Given the description of an element on the screen output the (x, y) to click on. 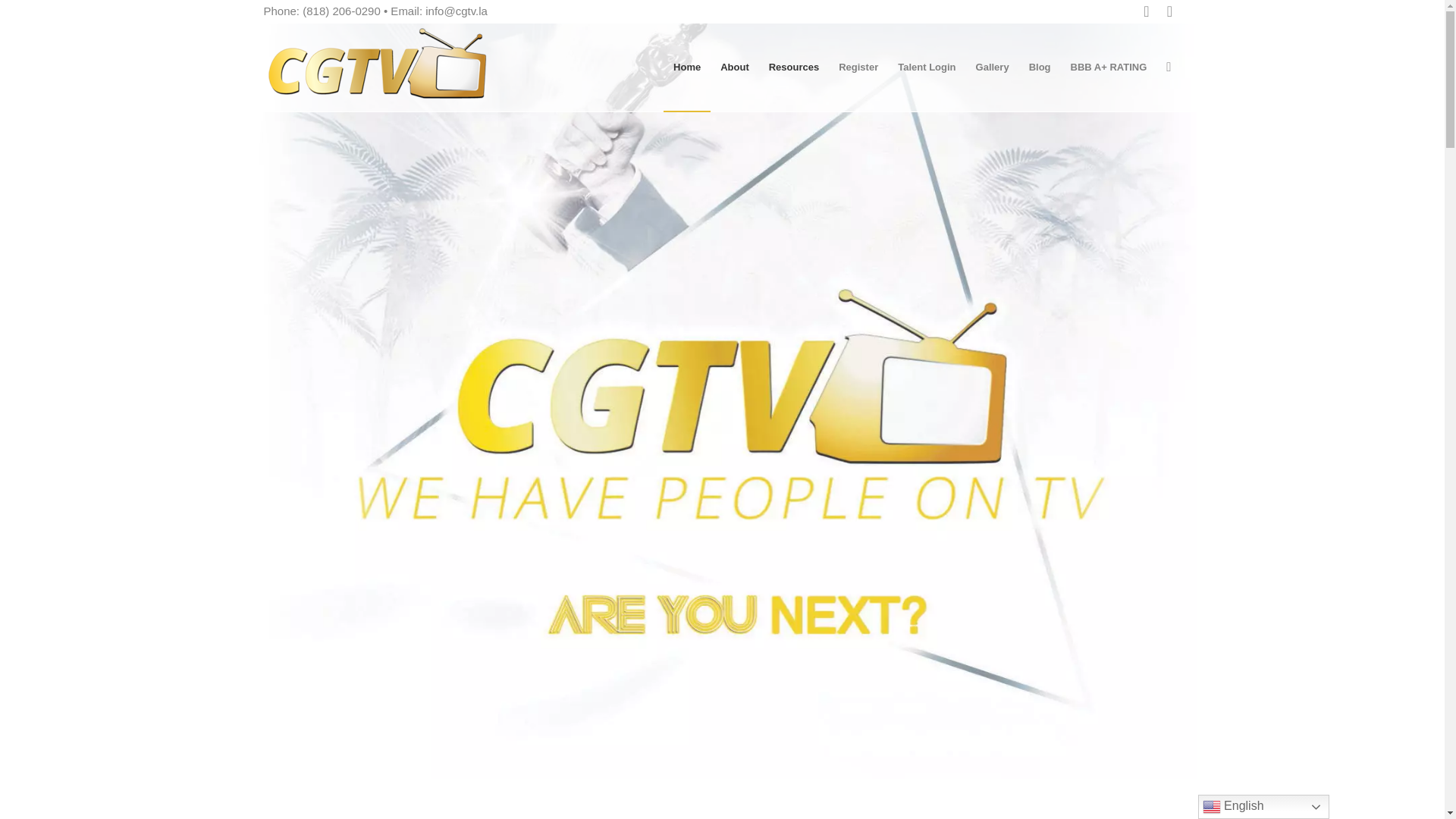
Facebook (1146, 11)
Instagram (1169, 11)
